Given the description of an element on the screen output the (x, y) to click on. 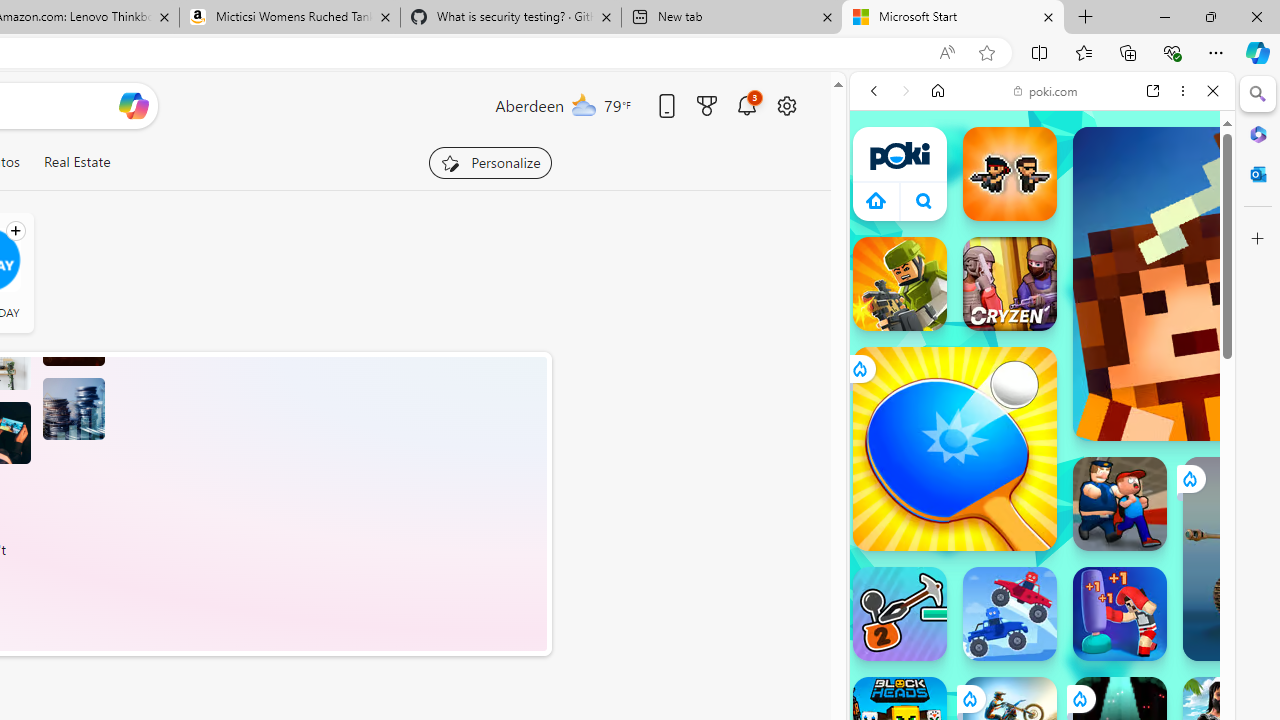
Shooting Games (1042, 518)
Ping Pong Go! (954, 448)
Search Filter, Search Tools (1093, 228)
Show More Shooting Games (1164, 521)
Stickman Climb 2 (899, 613)
poki.com (1046, 90)
Car Games (1042, 470)
